Given the description of an element on the screen output the (x, y) to click on. 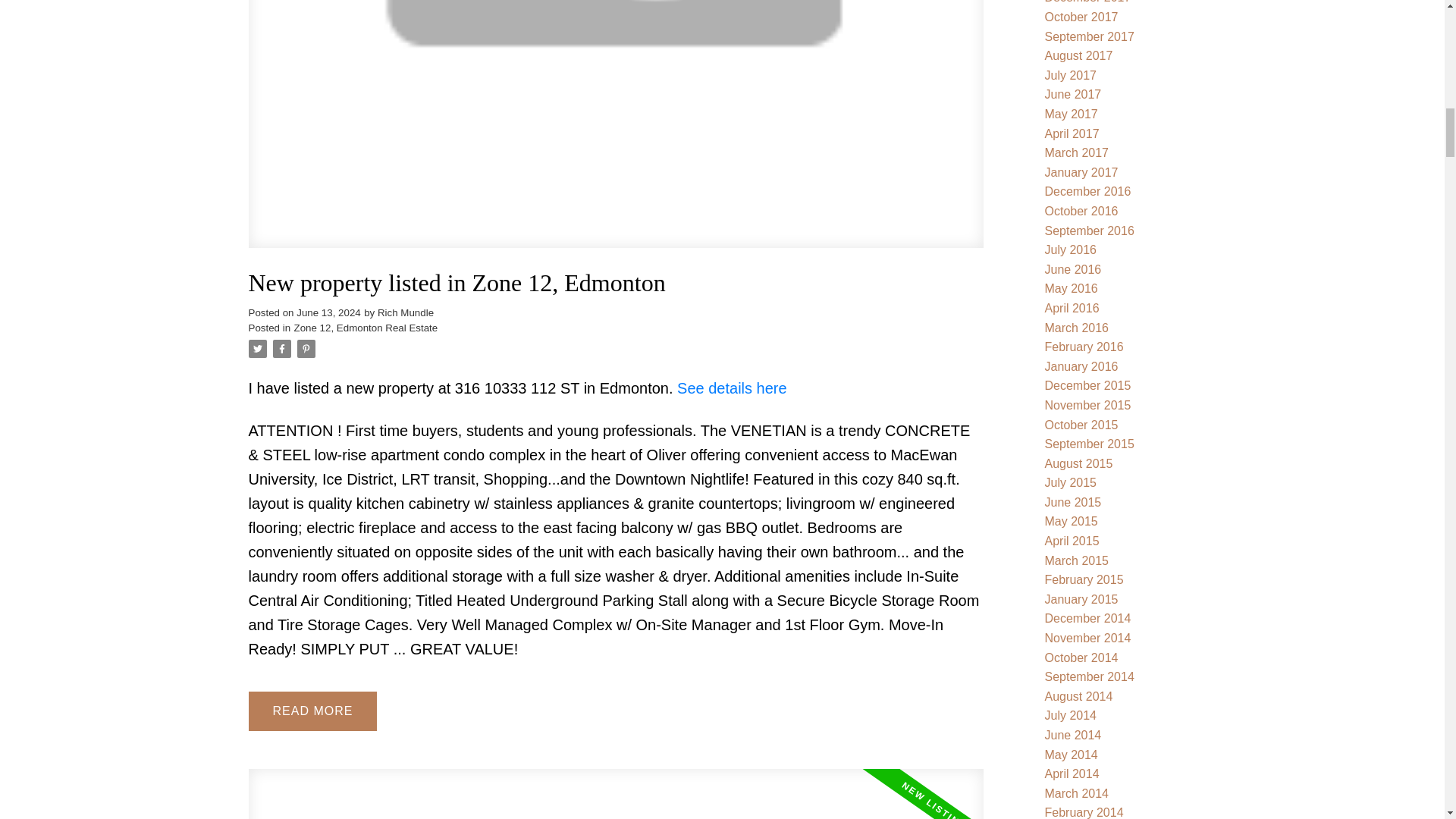
See details here (732, 388)
Read full post (616, 794)
New property listed in Zone 12, Edmonton (616, 283)
READ (312, 711)
Zone 12, Edmonton Real Estate (366, 327)
